Given the description of an element on the screen output the (x, y) to click on. 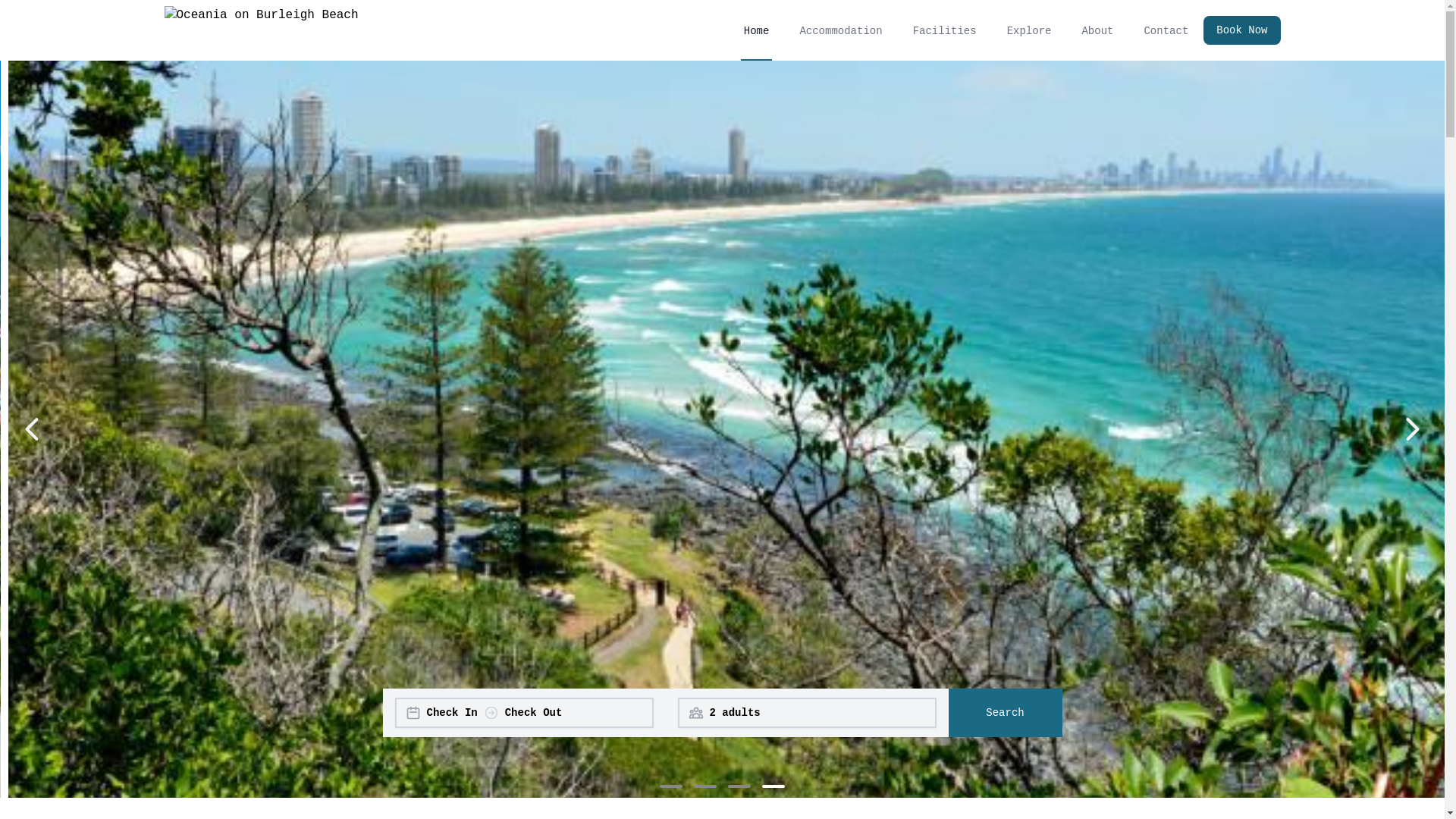
Book Now Element type: text (1241, 29)
Explore Element type: text (1029, 30)
About Element type: text (1097, 30)
Contact Element type: text (1165, 30)
Home Element type: text (756, 30)
Accommodation Element type: text (840, 30)
Book Now Element type: text (1235, 30)
Search Element type: text (1004, 712)
Facilities Element type: text (944, 30)
